Given the description of an element on the screen output the (x, y) to click on. 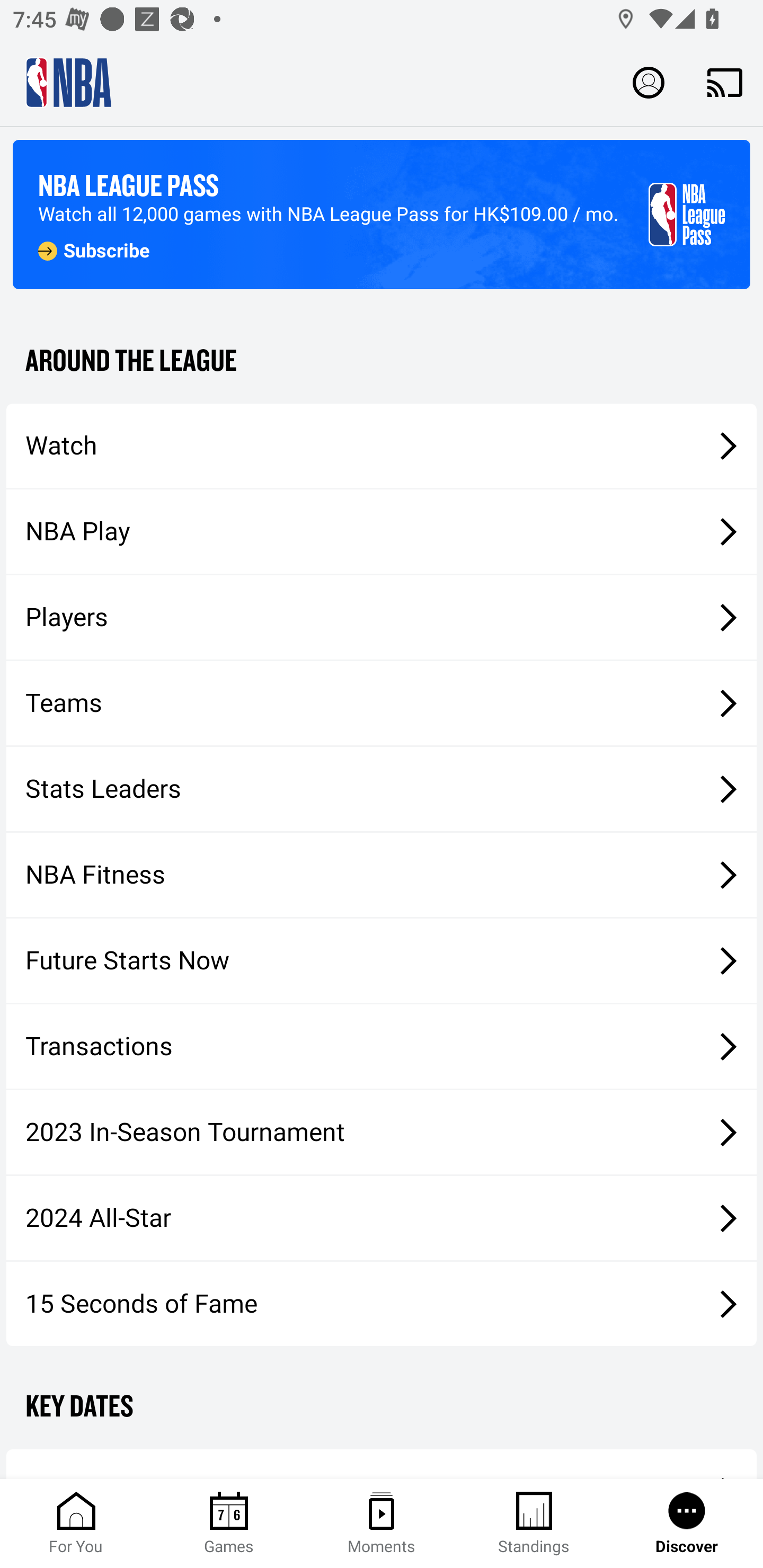
Cast. Disconnected (724, 82)
Profile (648, 81)
Watch (381, 444)
NBA Play (381, 531)
Players (381, 617)
Teams (381, 702)
Stats Leaders (381, 788)
NBA Fitness (381, 874)
Future Starts Now (381, 960)
Transactions (381, 1046)
2023 In-Season Tournament (381, 1131)
2024 All-Star (381, 1218)
15 Seconds of Fame (381, 1303)
For You (76, 1523)
Games (228, 1523)
Moments (381, 1523)
Standings (533, 1523)
